Given the description of an element on the screen output the (x, y) to click on. 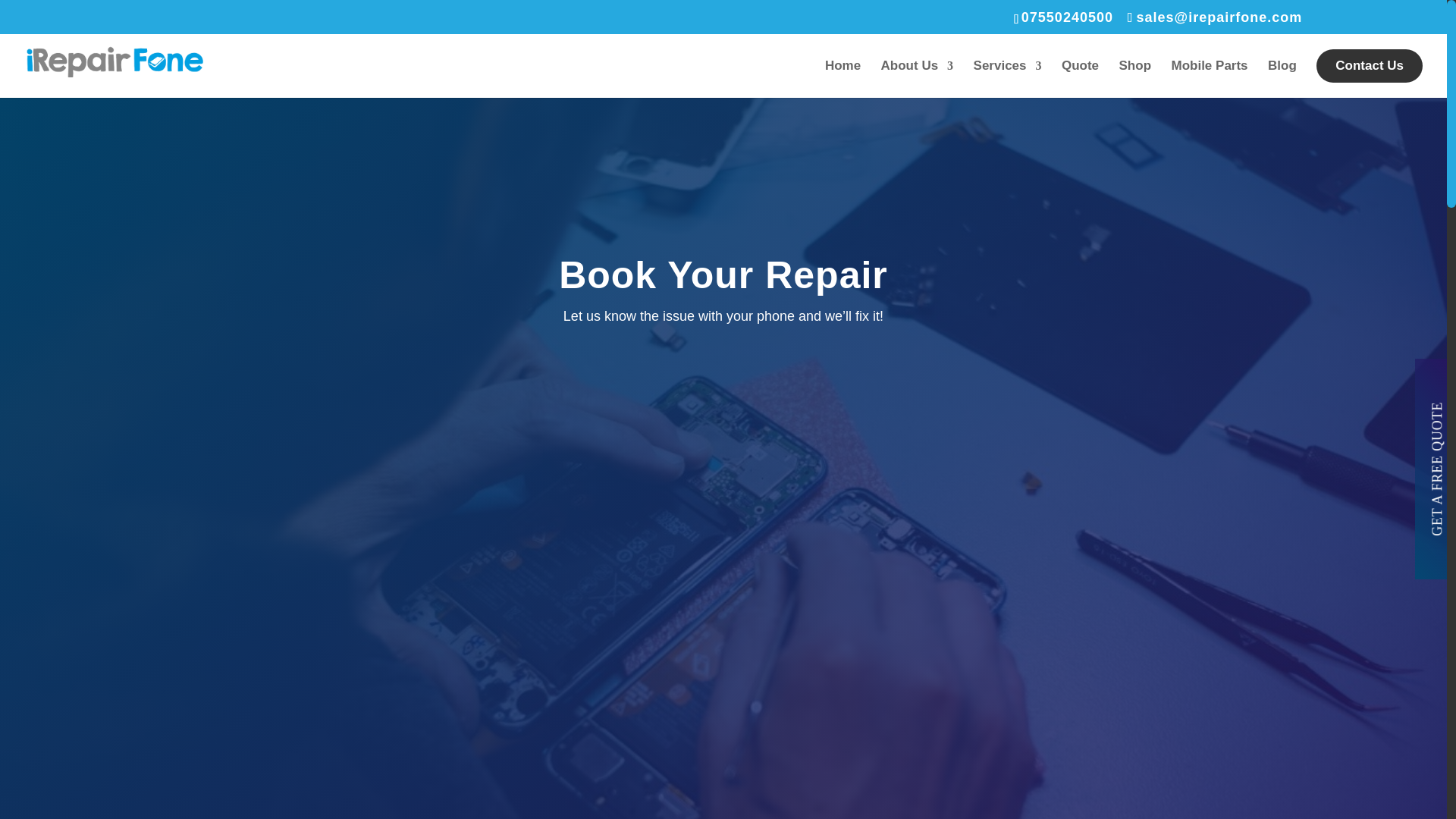
Services (1008, 78)
About Us (916, 78)
Mobile Parts (1208, 78)
07550240500 (1067, 16)
Contact Us (1369, 65)
Quote (1080, 78)
Home (842, 78)
